Given the description of an element on the screen output the (x, y) to click on. 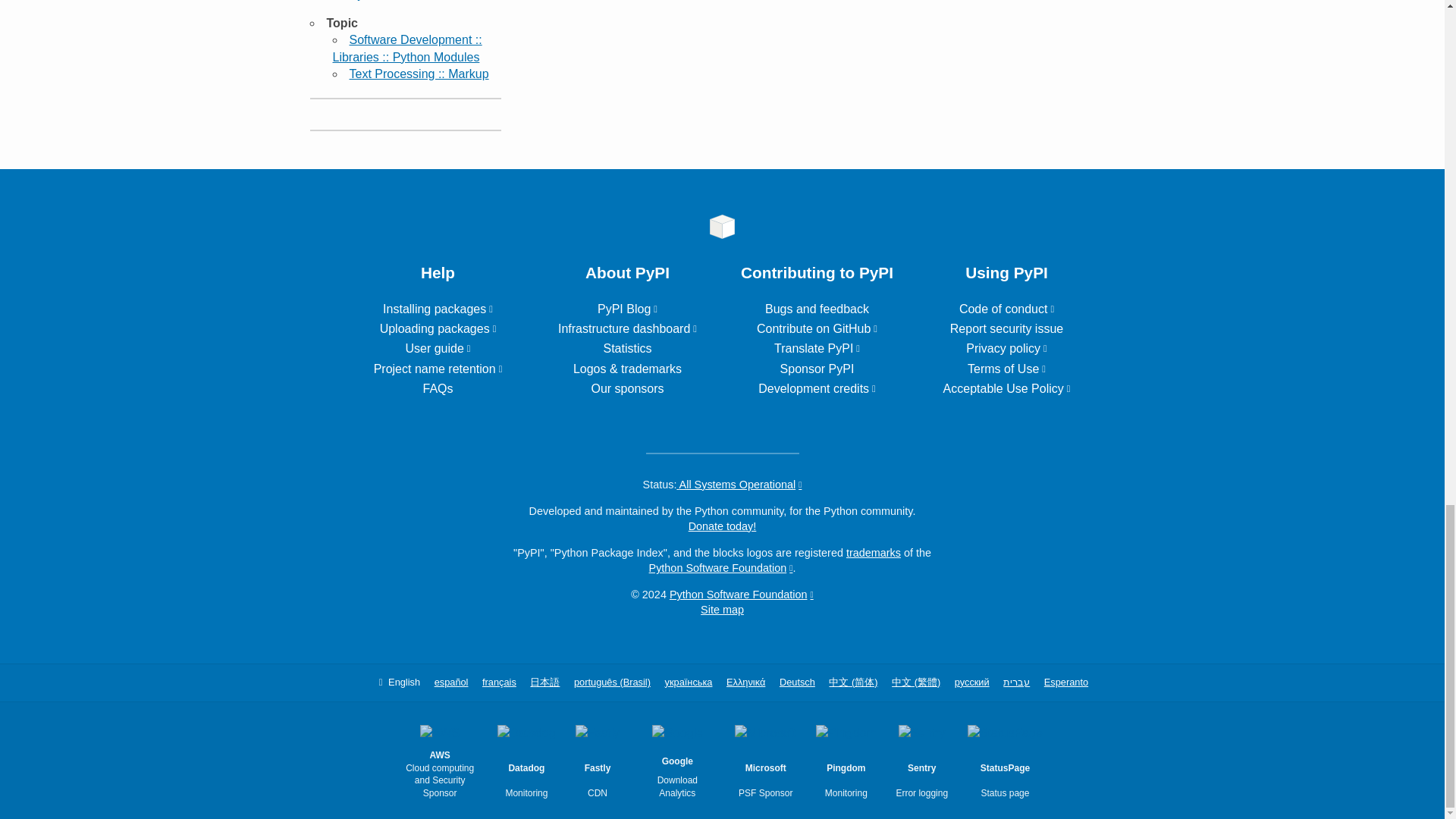
Software Development :: Libraries :: Python Modules (406, 48)
Text Processing :: Markup (418, 73)
